Given the description of an element on the screen output the (x, y) to click on. 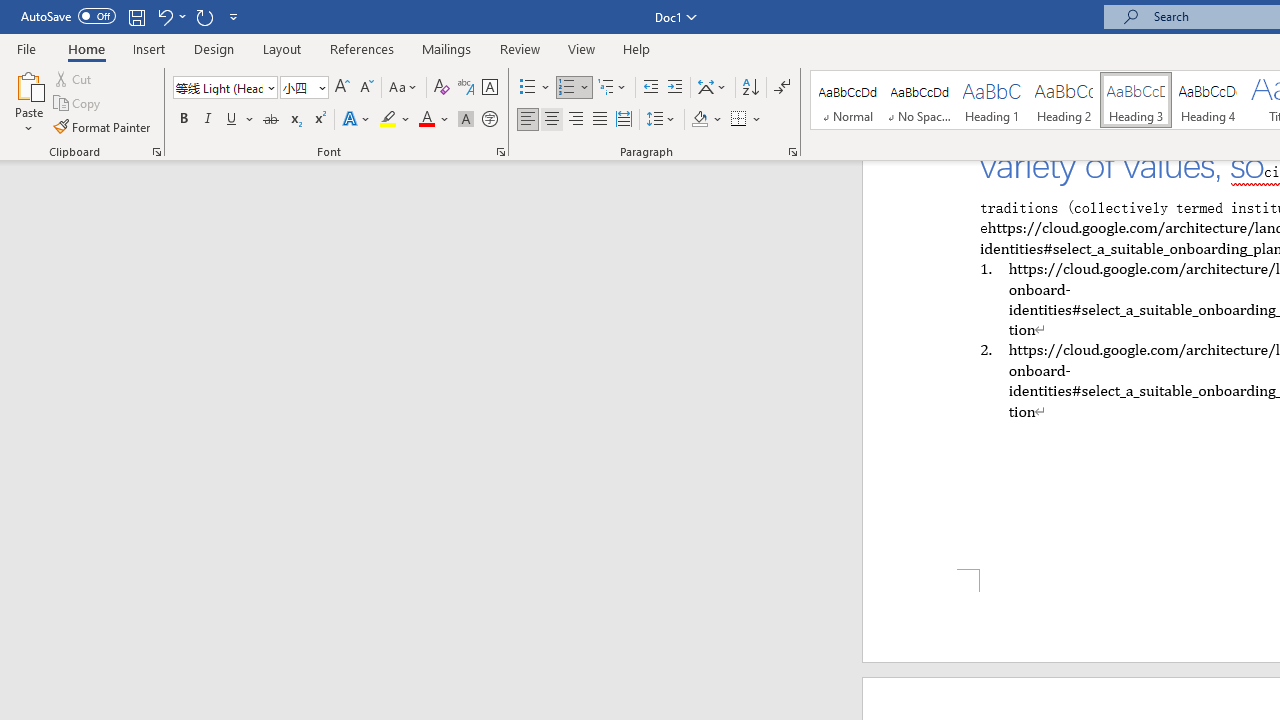
Repeat Paragraph Alignment (204, 15)
